Given the description of an element on the screen output the (x, y) to click on. 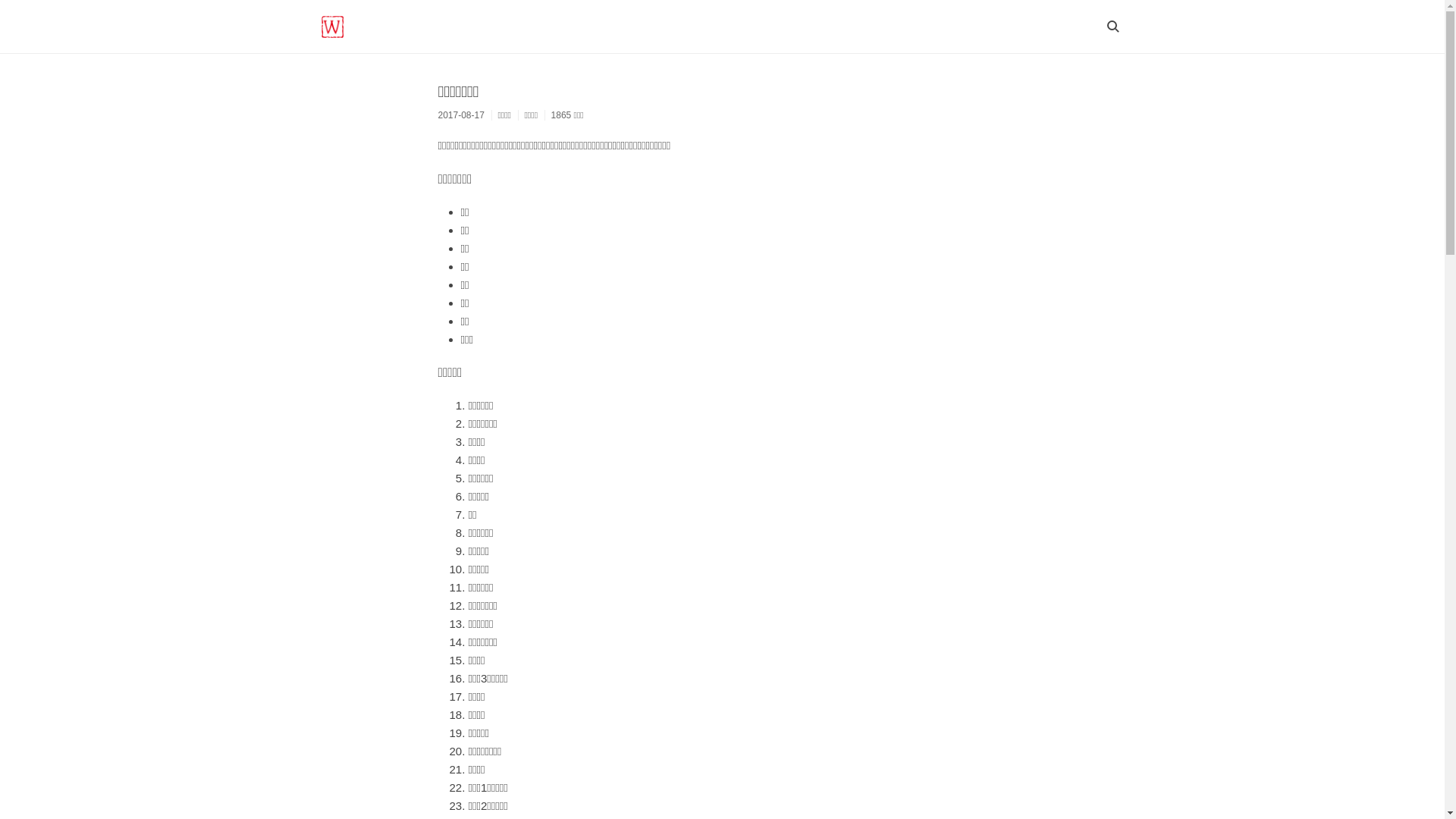
WORTHY BLOG Element type: hover (331, 26)
